Given the description of an element on the screen output the (x, y) to click on. 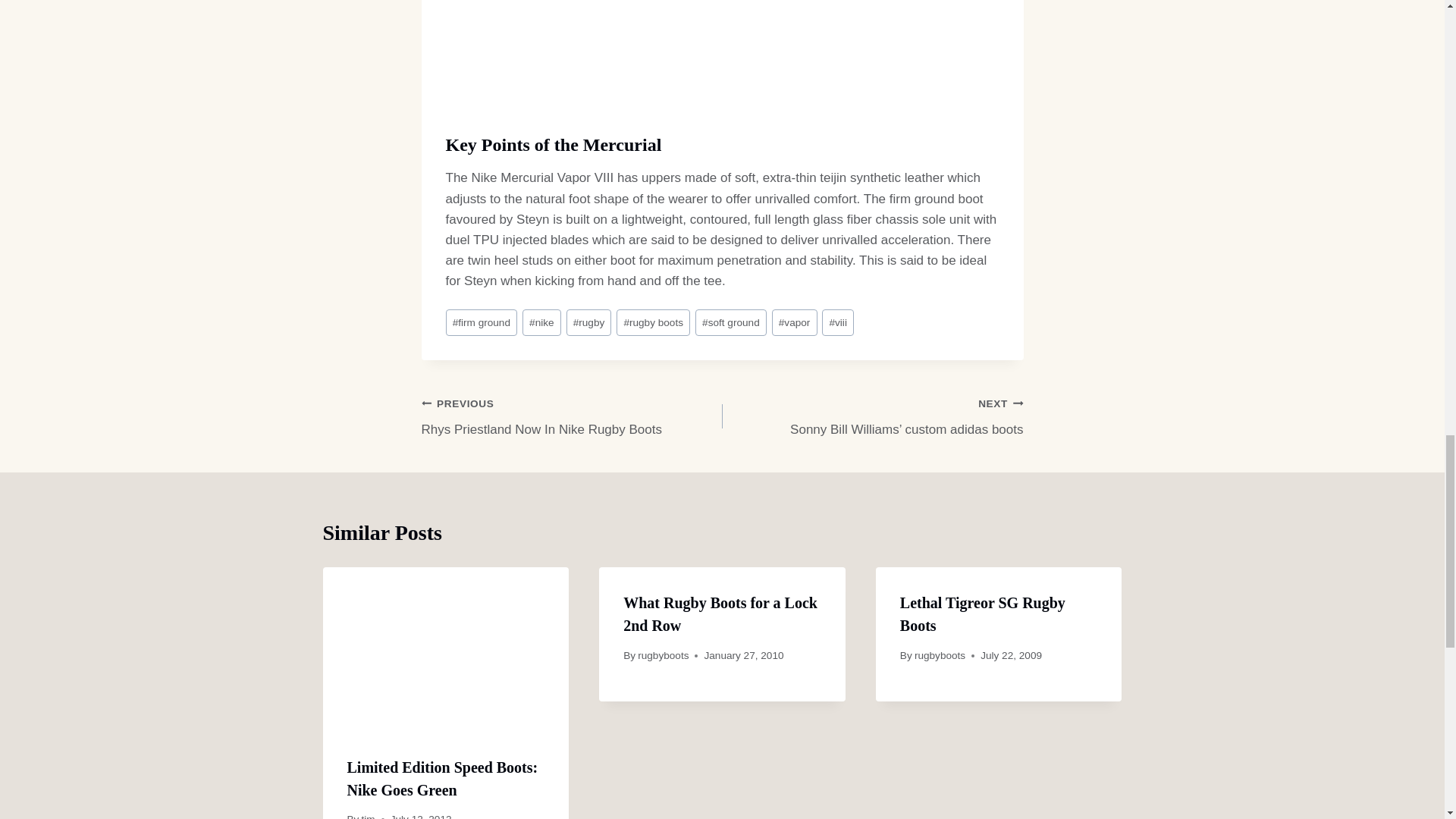
viii (572, 416)
rugbyboots (837, 322)
tim (662, 655)
soft ground (368, 816)
morne steyn (731, 322)
vapor (721, 60)
rugbyboots (793, 322)
firm ground (939, 655)
rugby boots (481, 322)
nike (652, 322)
Lethal Tigreor SG Rugby Boots (541, 322)
Limited Edition Speed Boots: Nike Goes Green (982, 613)
rugby (442, 778)
What Rugby Boots for a Lock 2nd Row (588, 322)
